Given the description of an element on the screen output the (x, y) to click on. 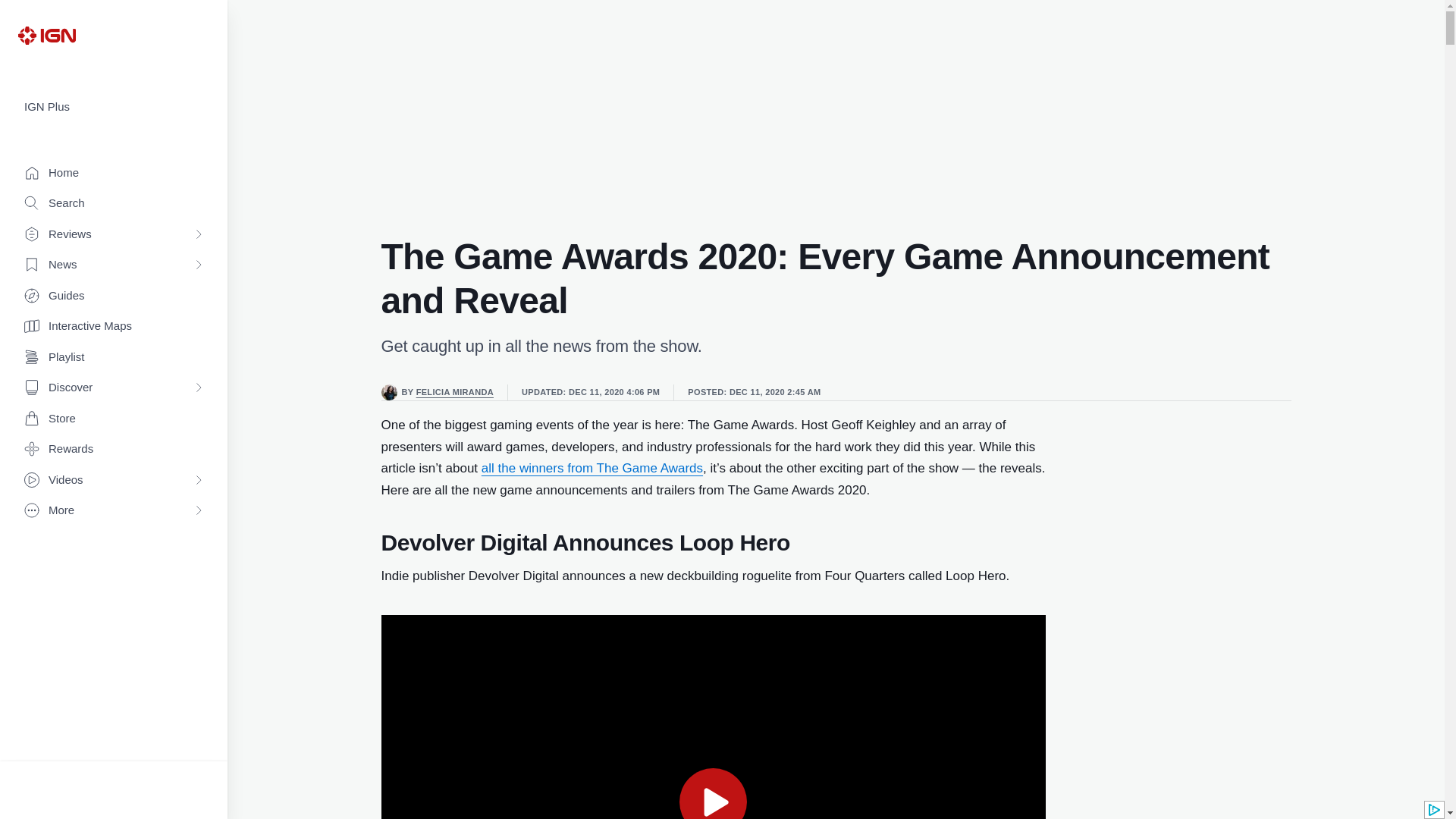
Videos (113, 480)
IGN Logo (46, 35)
Search (113, 203)
Discover (113, 387)
News (113, 265)
IGN Plus (113, 107)
Store (113, 418)
IGN Plus (113, 107)
IGN Logo (46, 34)
Interactive Maps (113, 326)
